Given the description of an element on the screen output the (x, y) to click on. 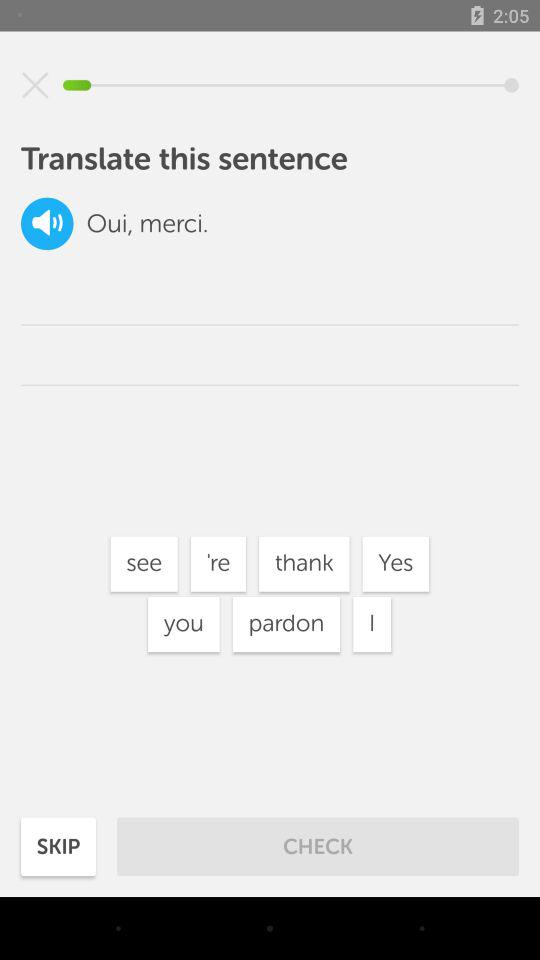
tap item at the bottom left corner (58, 846)
